Given the description of an element on the screen output the (x, y) to click on. 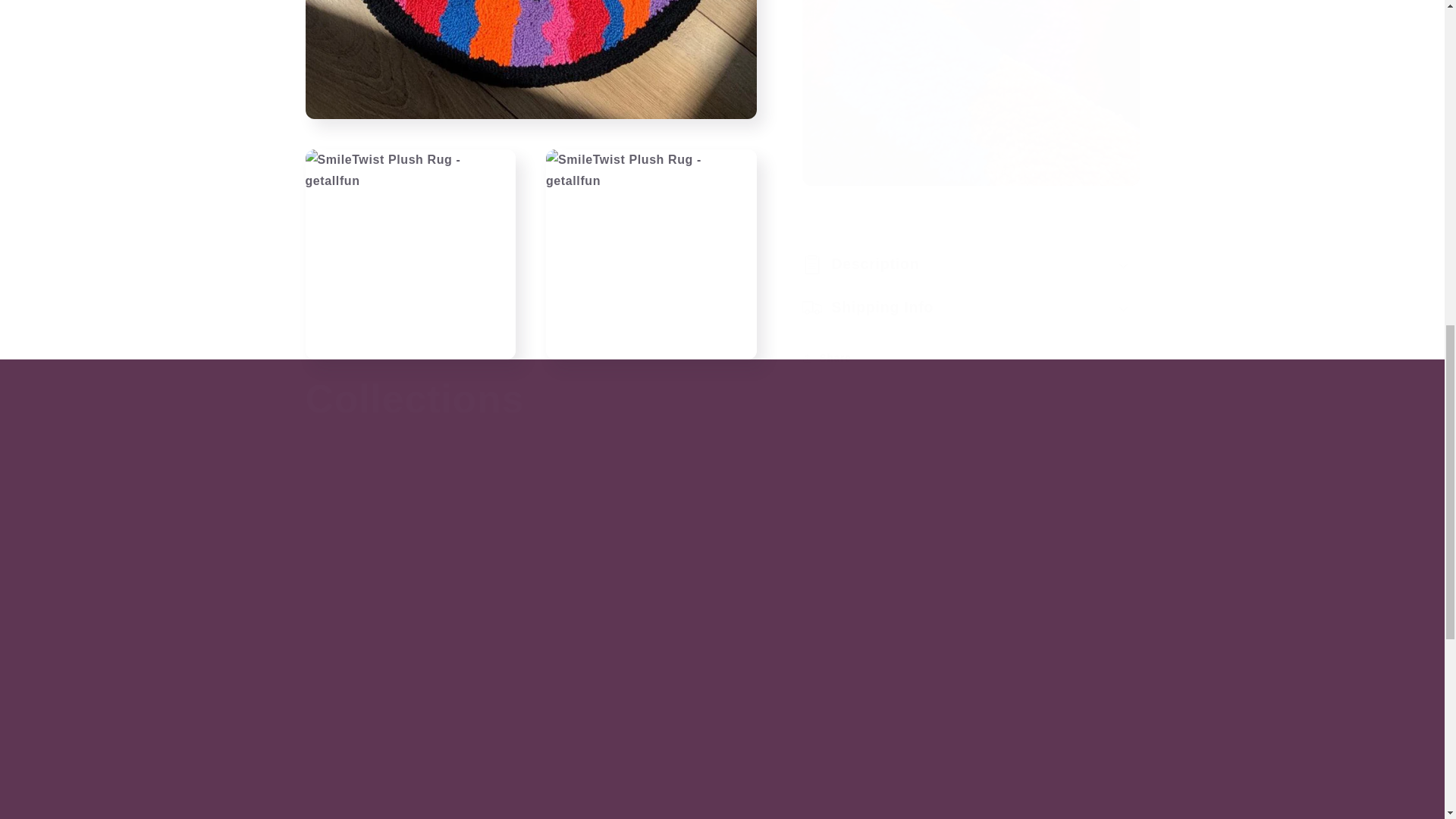
Funglasses (1009, 807)
Phone Cases (721, 807)
Jewelry (433, 807)
Collections (414, 398)
